Given the description of an element on the screen output the (x, y) to click on. 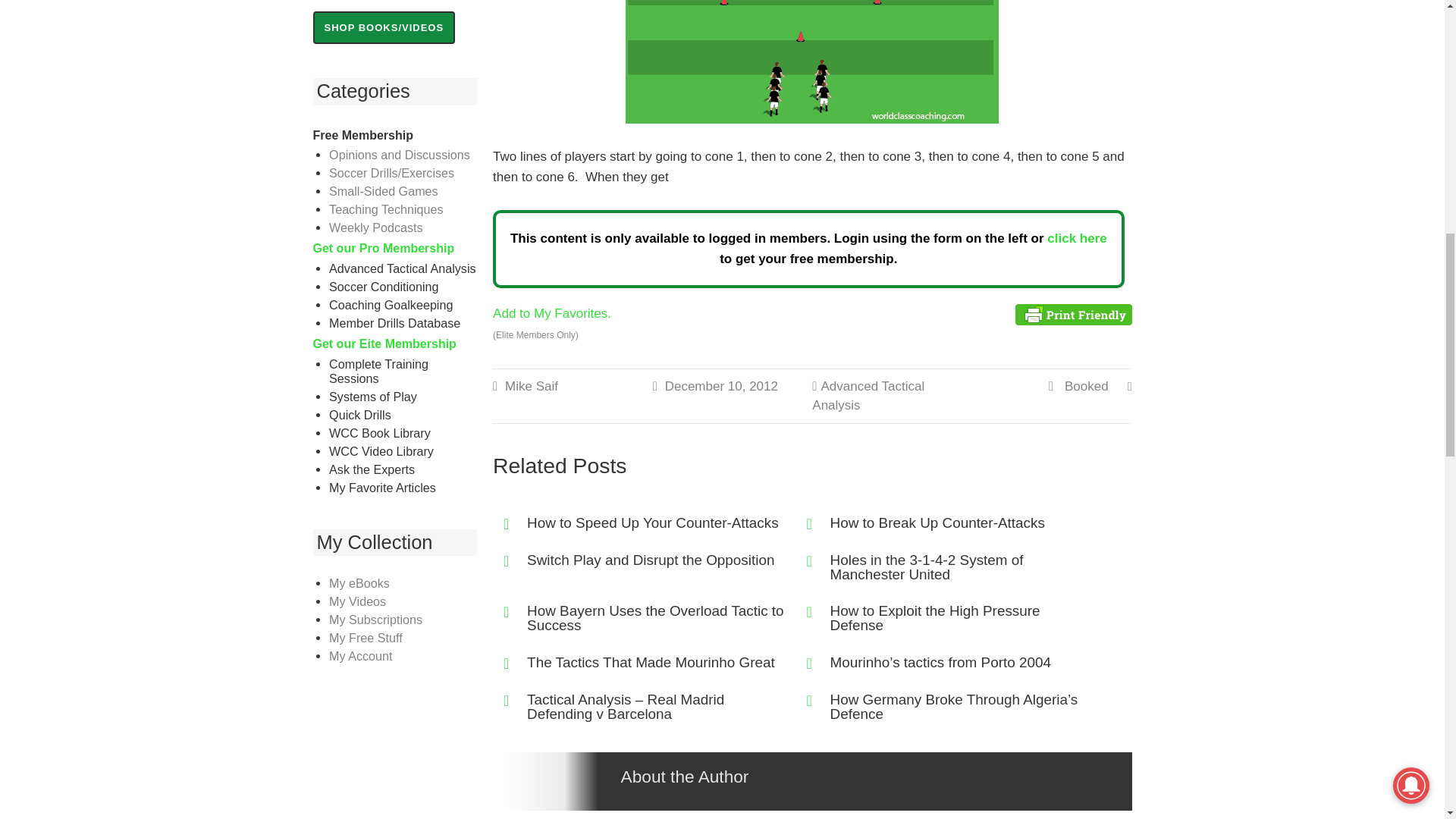
My Videos (357, 601)
Teaching Techniques (385, 209)
My Subscriptions (375, 619)
Advanced Tactical Analysis (868, 396)
Small-Sided Games (383, 191)
Booked (1086, 386)
Get our Eite Membership (384, 343)
blog003a (812, 61)
Weekly Podcasts (376, 227)
Opinions and Discussions (399, 154)
